Given the description of an element on the screen output the (x, y) to click on. 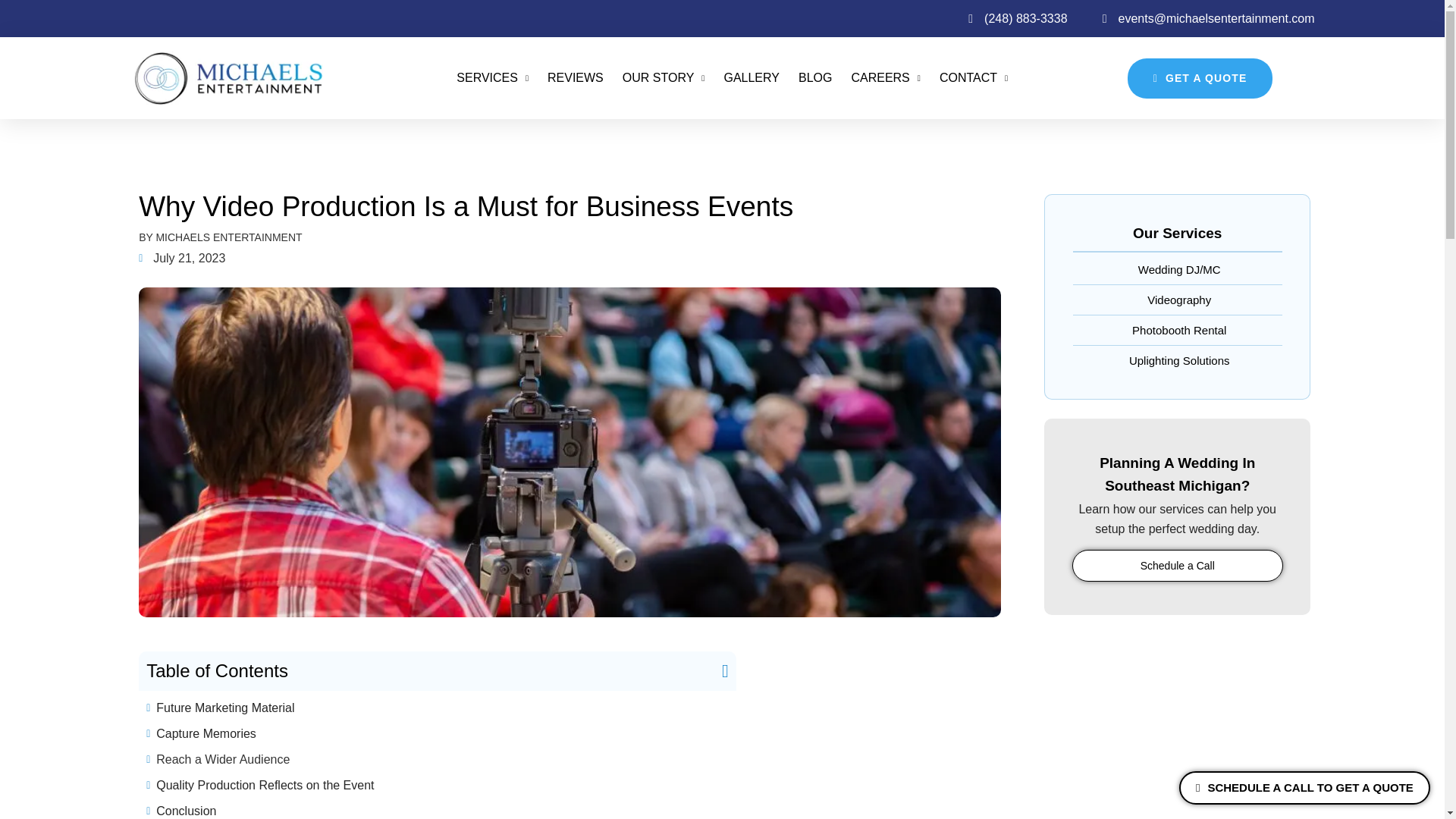
BLOG (814, 77)
CONTACT (973, 77)
GALLERY (750, 77)
SERVICES (492, 77)
REVIEWS (575, 77)
CAREERS (885, 77)
OUR STORY (663, 77)
